Given the description of an element on the screen output the (x, y) to click on. 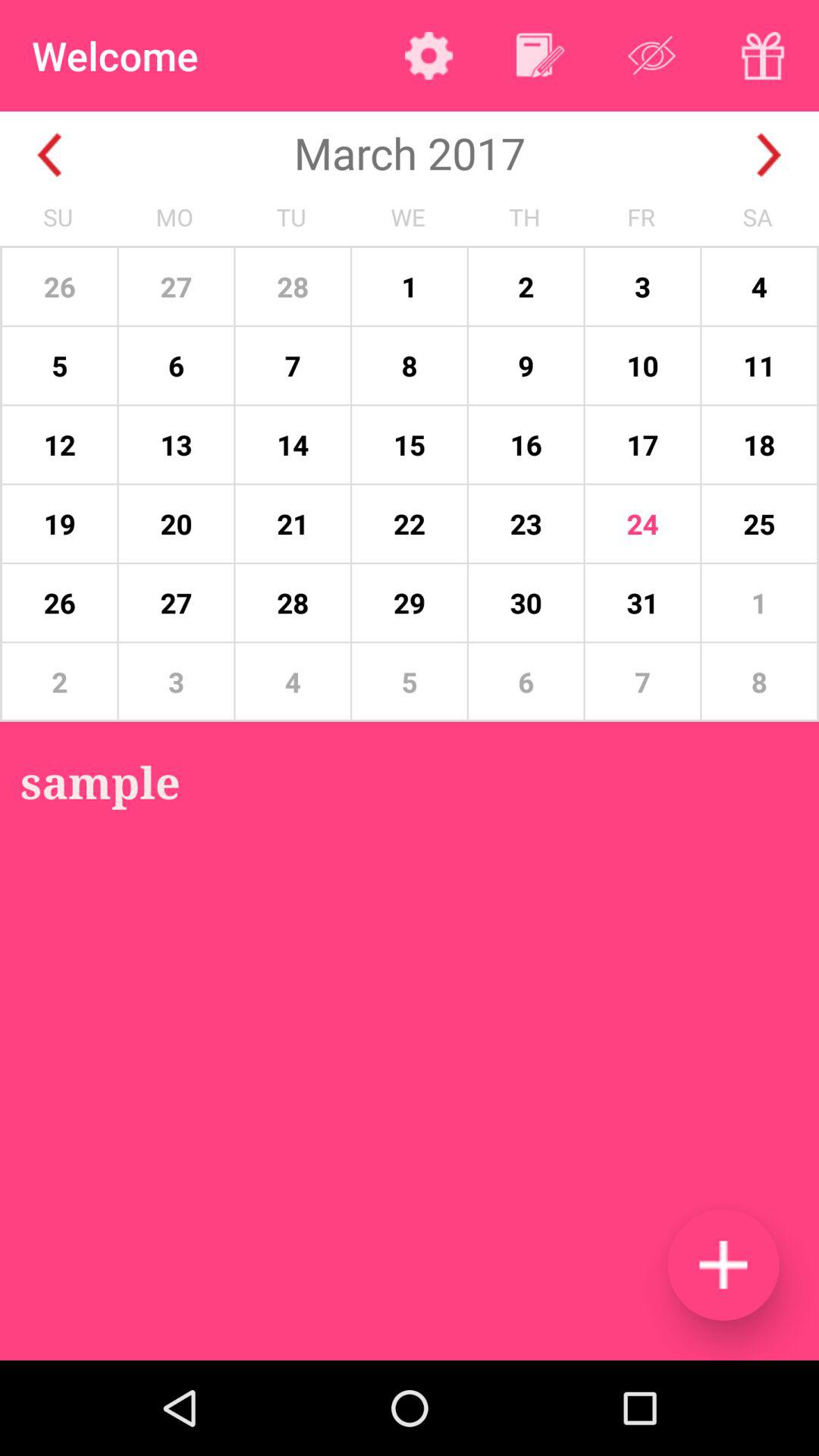
settings wheel (428, 55)
